Given the description of an element on the screen output the (x, y) to click on. 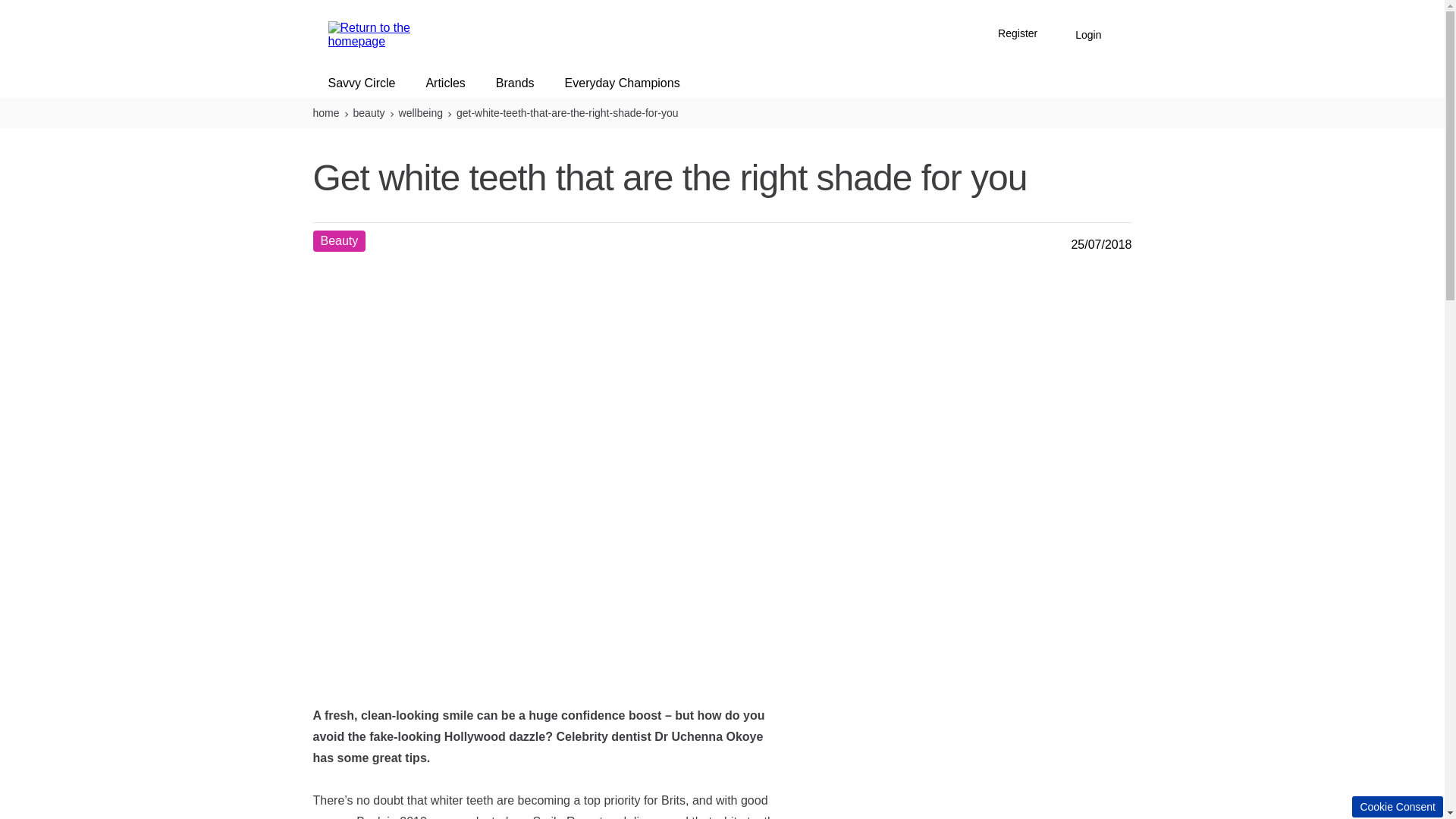
Articles (445, 83)
Register (1017, 34)
Savvy Circle (361, 83)
Login (1087, 34)
